Given the description of an element on the screen output the (x, y) to click on. 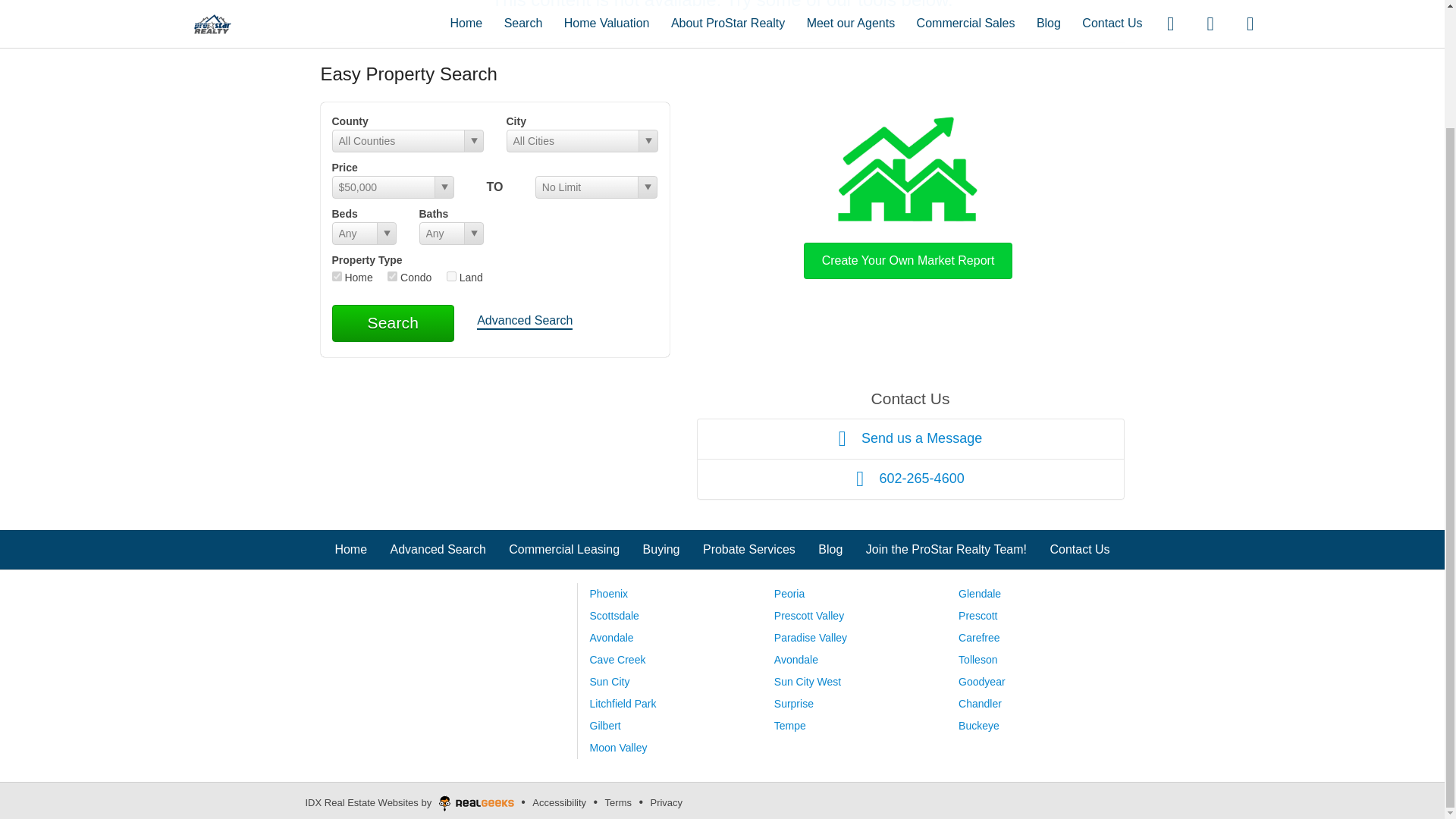
Create Your Own Market Report (907, 194)
Glendale (979, 593)
Advanced Search (438, 549)
Probate Services (748, 549)
res (336, 276)
602-265-4600 (909, 478)
Carefree (978, 637)
Avondale (611, 637)
Paradise Valley (810, 637)
Send us a Message (909, 438)
